Given the description of an element on the screen output the (x, y) to click on. 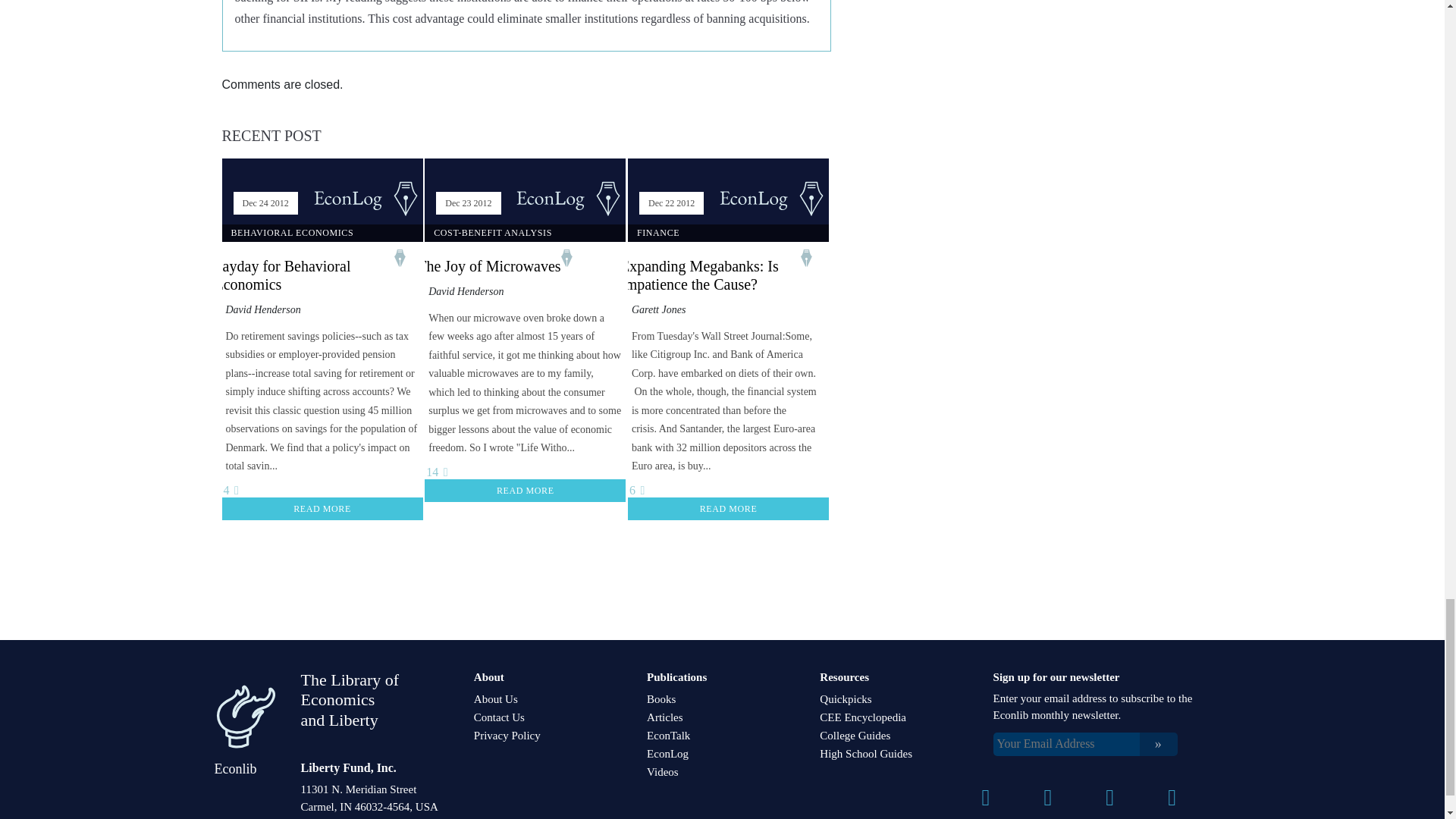
Garett Jones (658, 309)
David Henderson (263, 309)
David Henderson (465, 291)
